Given the description of an element on the screen output the (x, y) to click on. 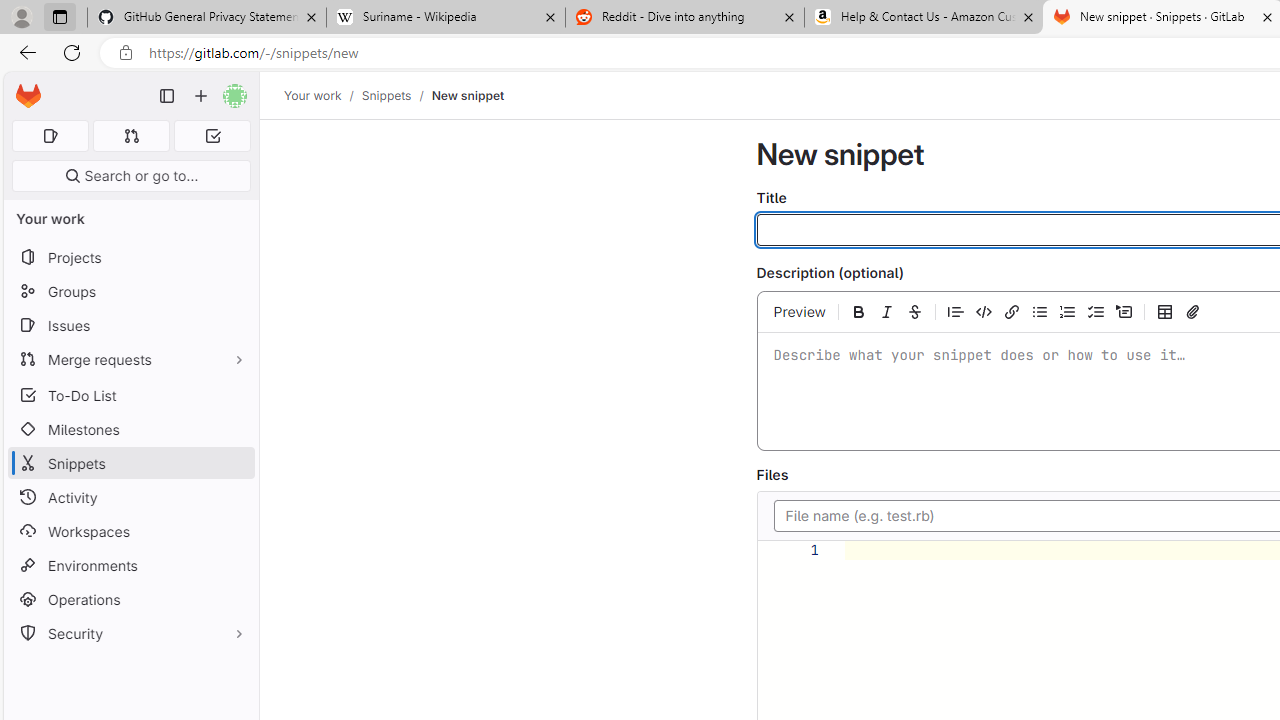
Issues (130, 325)
Add a table (1165, 311)
Primary navigation sidebar (167, 96)
Projects (130, 257)
To-Do List (130, 394)
Operations (130, 599)
Add a bullet list (1039, 311)
Preview (799, 311)
Snippets/ (396, 95)
Help & Contact Us - Amazon Customer Service (924, 17)
Environments (130, 564)
Groups (130, 291)
